Given the description of an element on the screen output the (x, y) to click on. 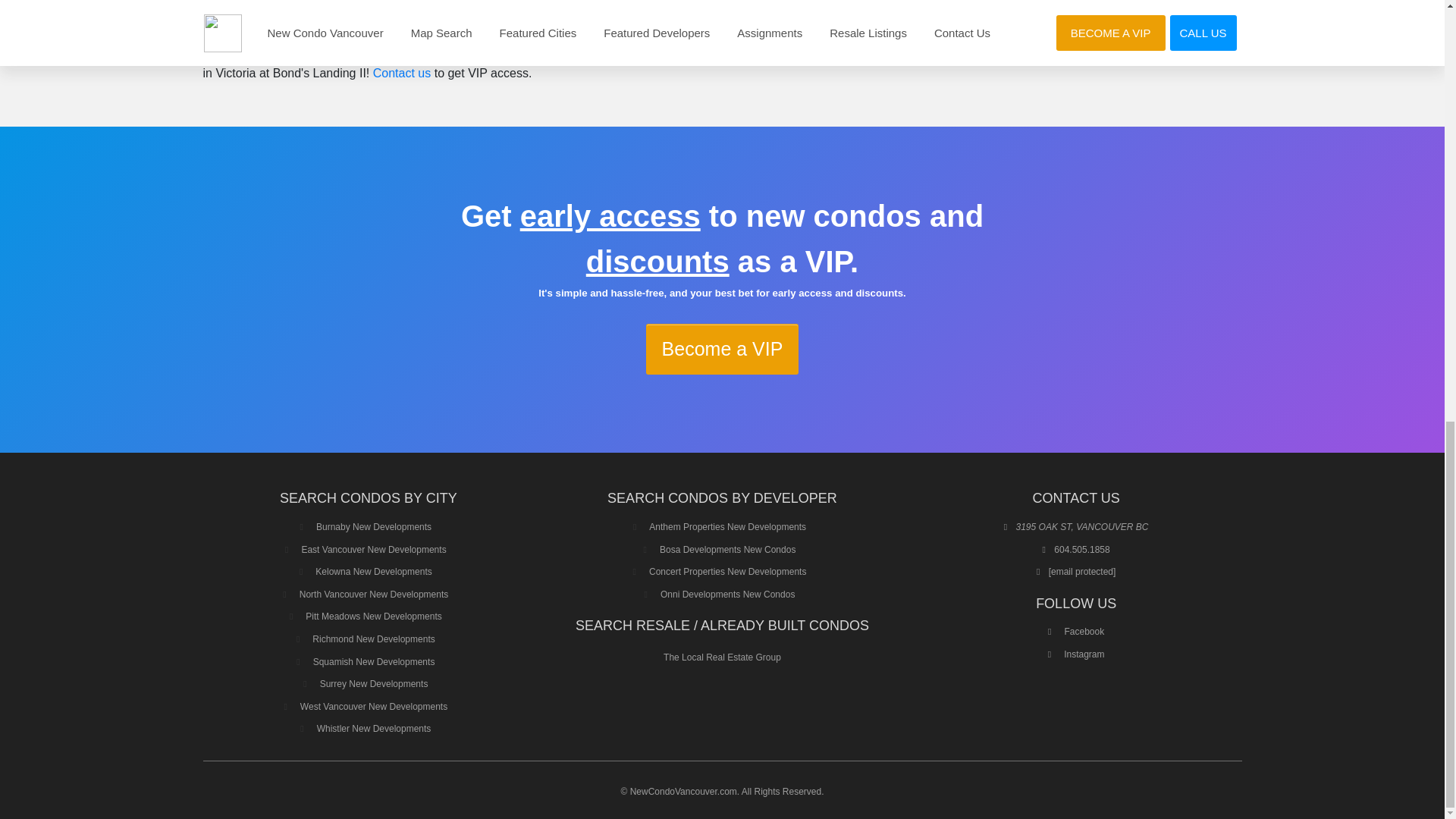
Squamish New Developments (374, 661)
Kelowna New Developments (372, 571)
Pitt Meadows New Developments (373, 615)
Become a VIP (722, 348)
Facebook (1075, 631)
Bosa Developments New Condos (726, 549)
Burnaby New Developments (372, 526)
Anthem Properties New Developments (727, 526)
Condo (581, 6)
Onni Developments New Condos (727, 593)
Concert Properties New Developments (727, 571)
East Vancouver New Developments (373, 549)
The Local Real Estate Group (721, 656)
Condo (865, 51)
Surrey New Developments (374, 683)
